Given the description of an element on the screen output the (x, y) to click on. 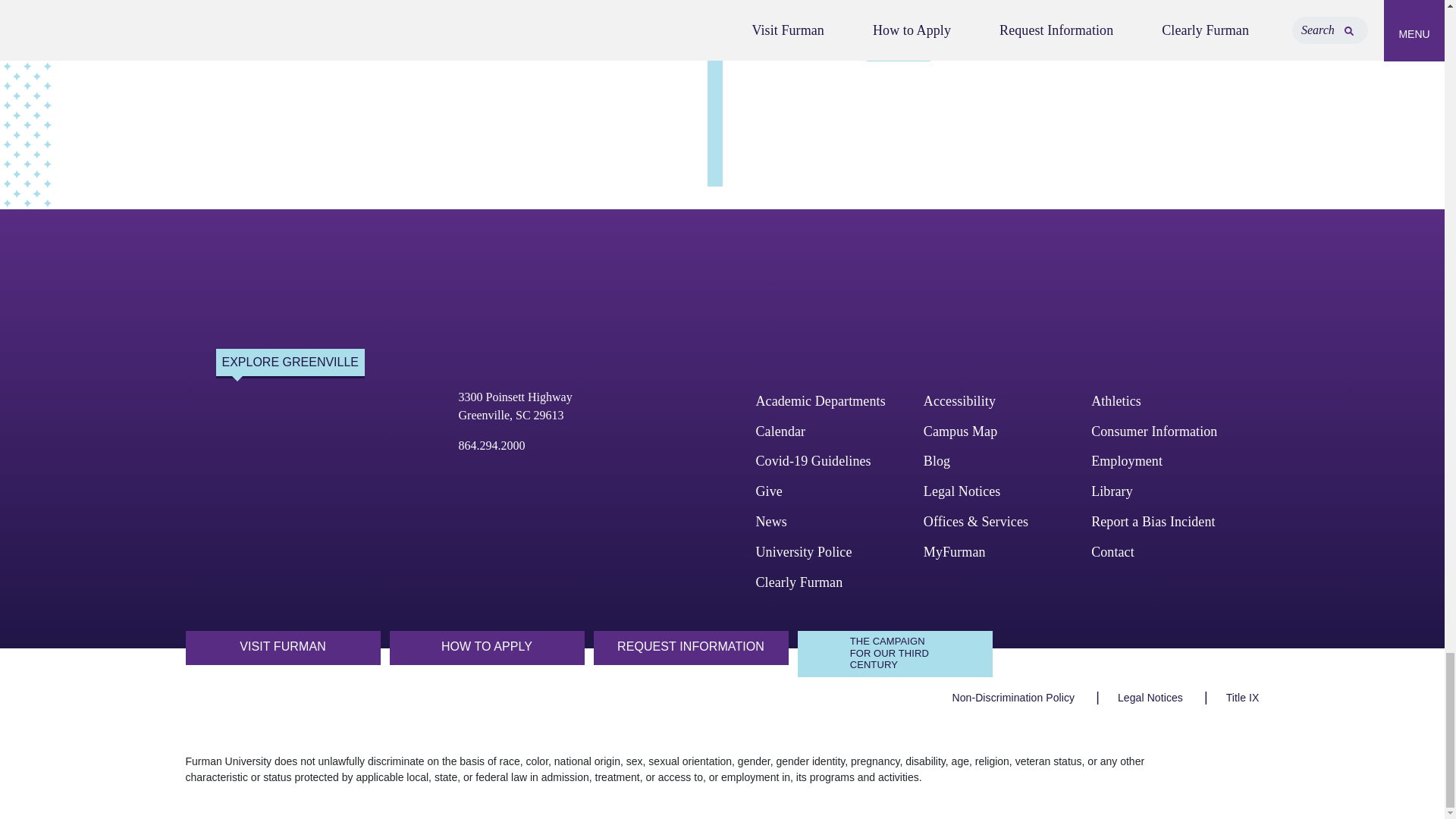
Academic Departments (820, 400)
864.294.2000 (491, 445)
Read more (898, 46)
